Given the description of an element on the screen output the (x, y) to click on. 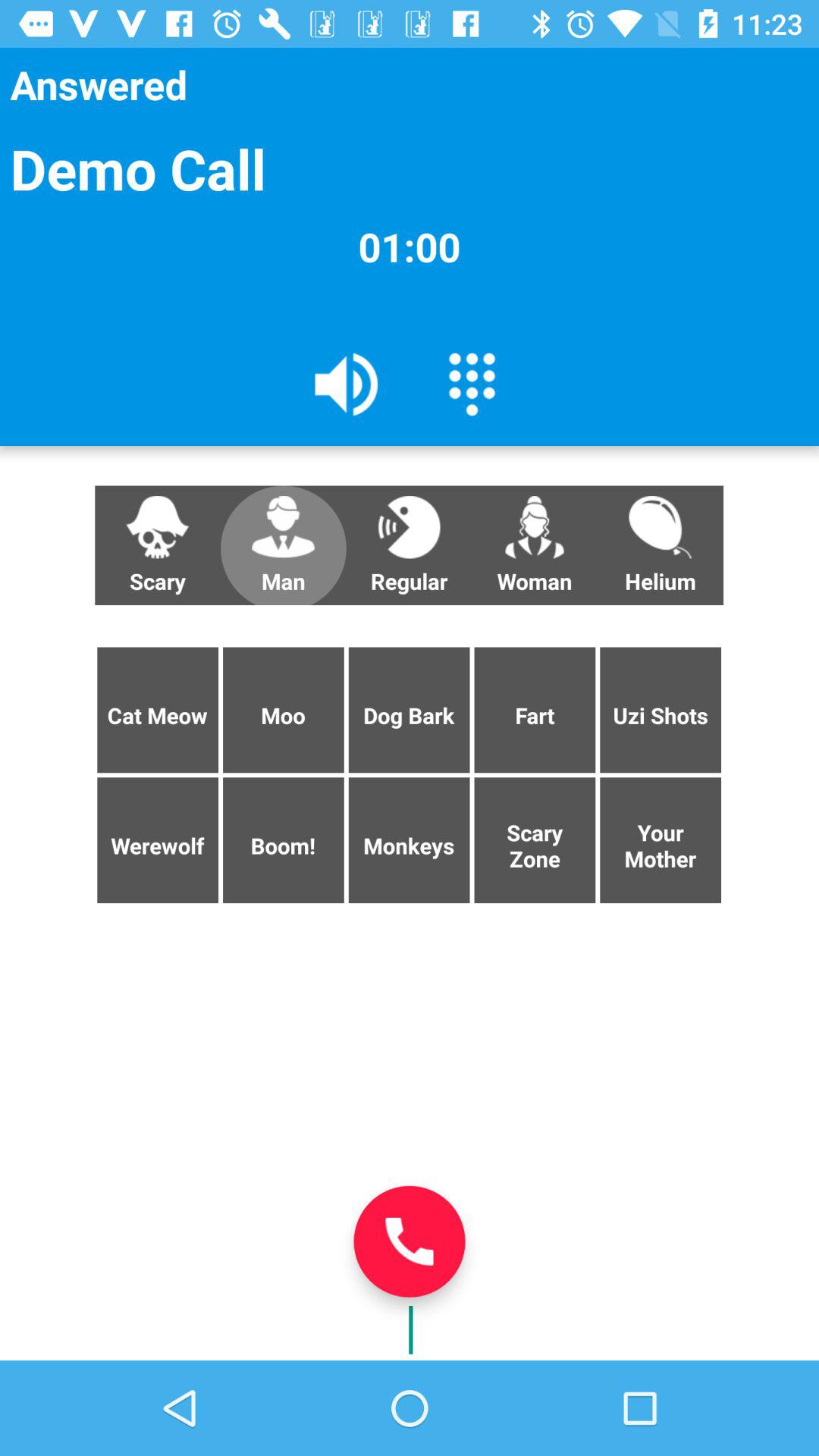
choose the item above man icon (346, 382)
